Given the description of an element on the screen output the (x, y) to click on. 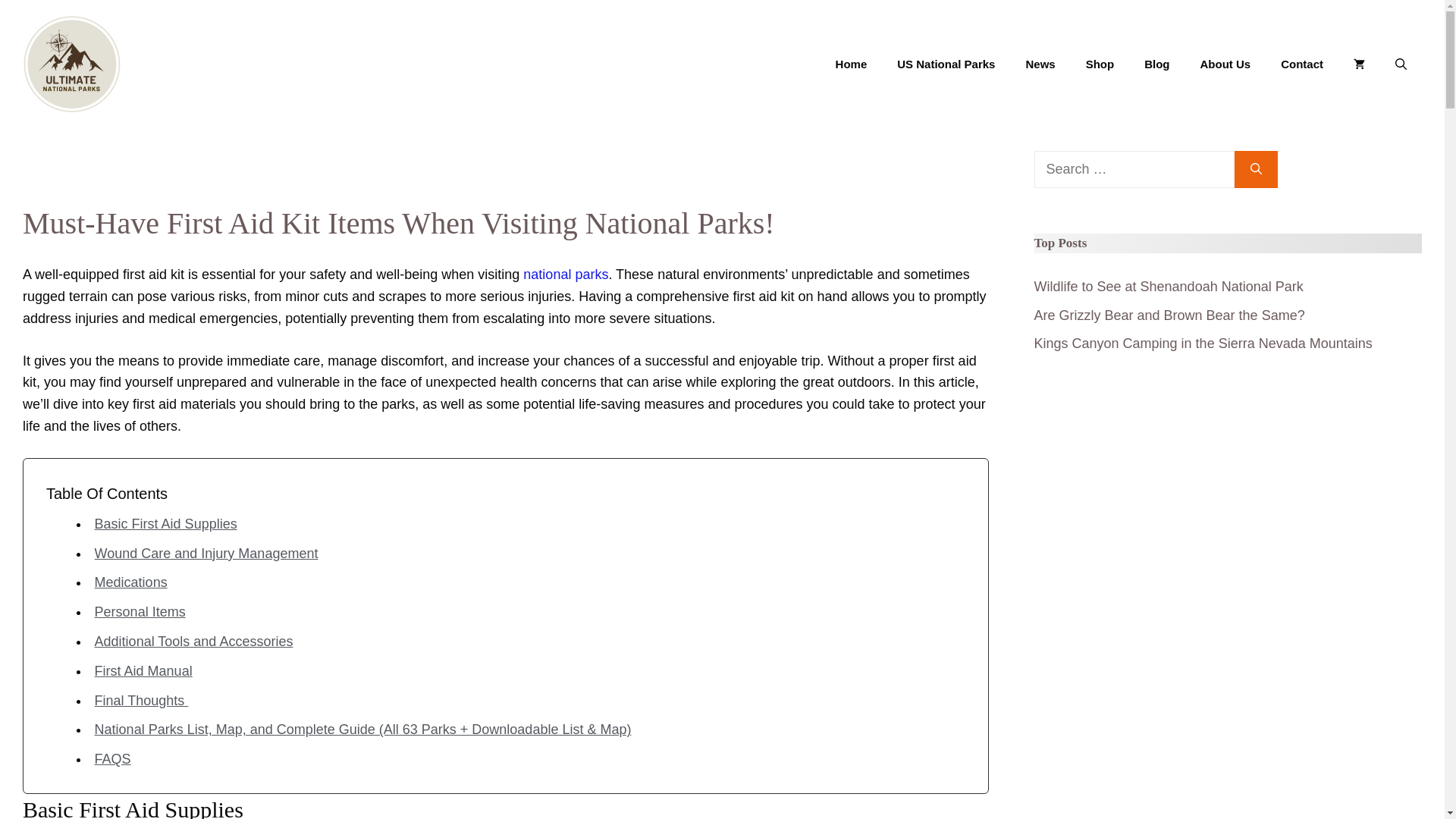
First Aid Manual (143, 670)
Final Thoughts  (141, 700)
Basic First Aid Supplies (165, 523)
US National Parks (946, 63)
View your shopping cart (1359, 63)
Blog (1157, 63)
Shop (1099, 63)
News (1040, 63)
national parks (565, 273)
Additional Tools and Accessories (194, 641)
Medications (130, 581)
FAQS (112, 758)
Search for: (1133, 169)
Personal Items (140, 611)
Home (851, 63)
